Given the description of an element on the screen output the (x, y) to click on. 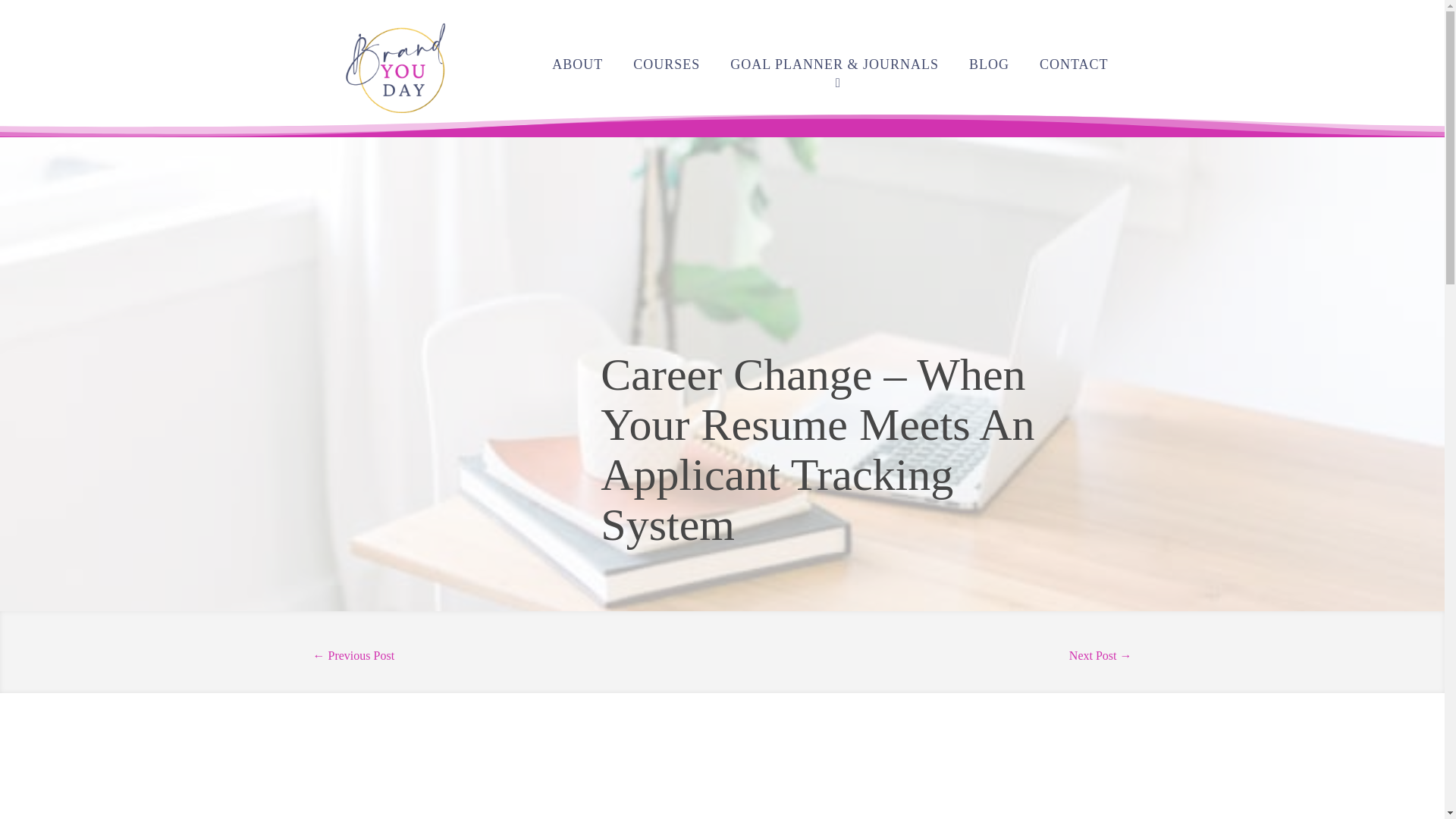
CONTACT (1073, 67)
BLOG (989, 67)
COURSES (666, 67)
ABOUT (576, 67)
BYD Logo final transparent (397, 68)
